Given the description of an element on the screen output the (x, y) to click on. 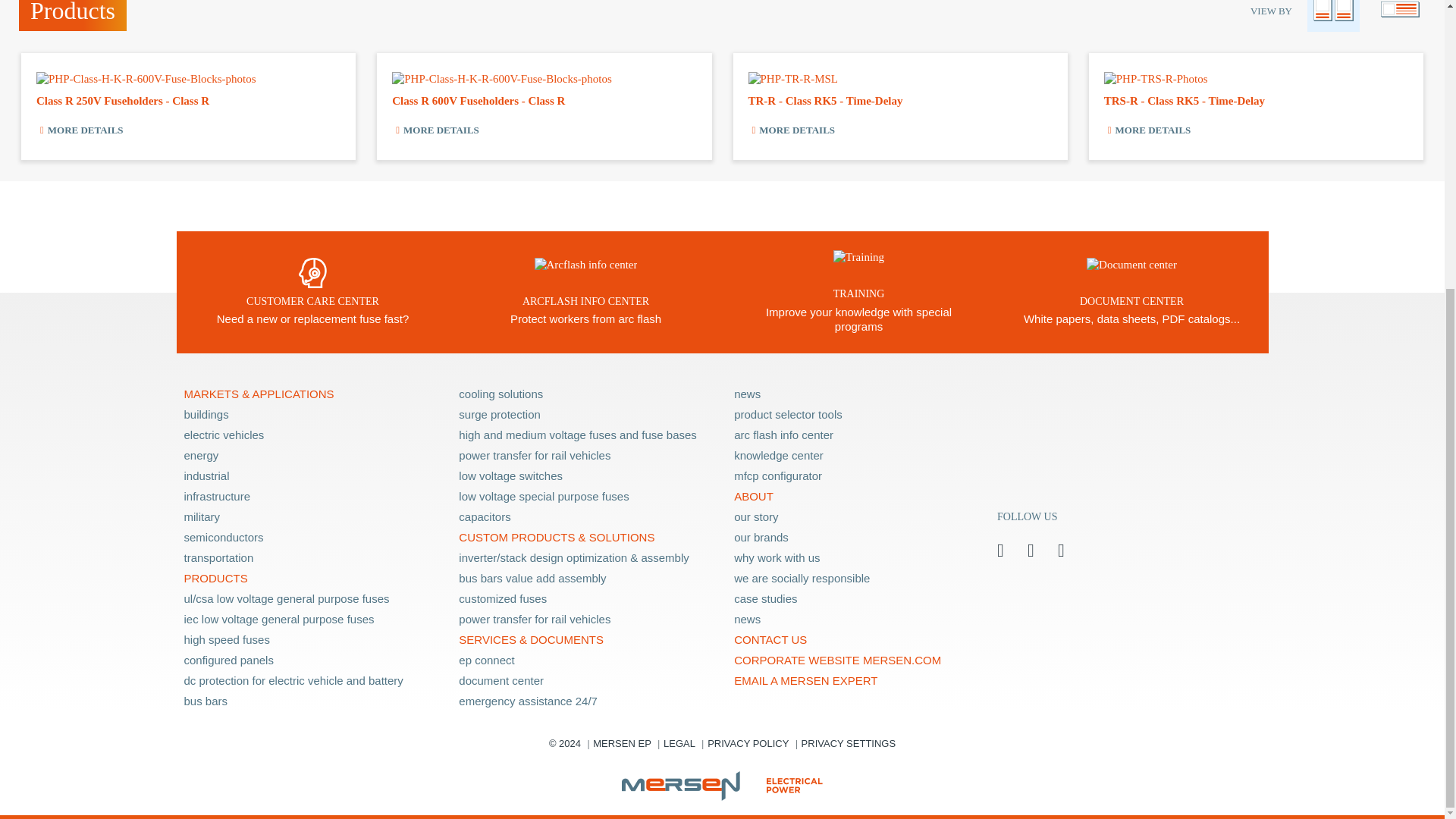
Infrastructure (311, 496)
Energy (311, 455)
Semiconductors (311, 537)
Military (311, 516)
Electric Vehicles (311, 435)
Transportation (311, 557)
Industrial (311, 476)
Buildings (311, 414)
